Given the description of an element on the screen output the (x, y) to click on. 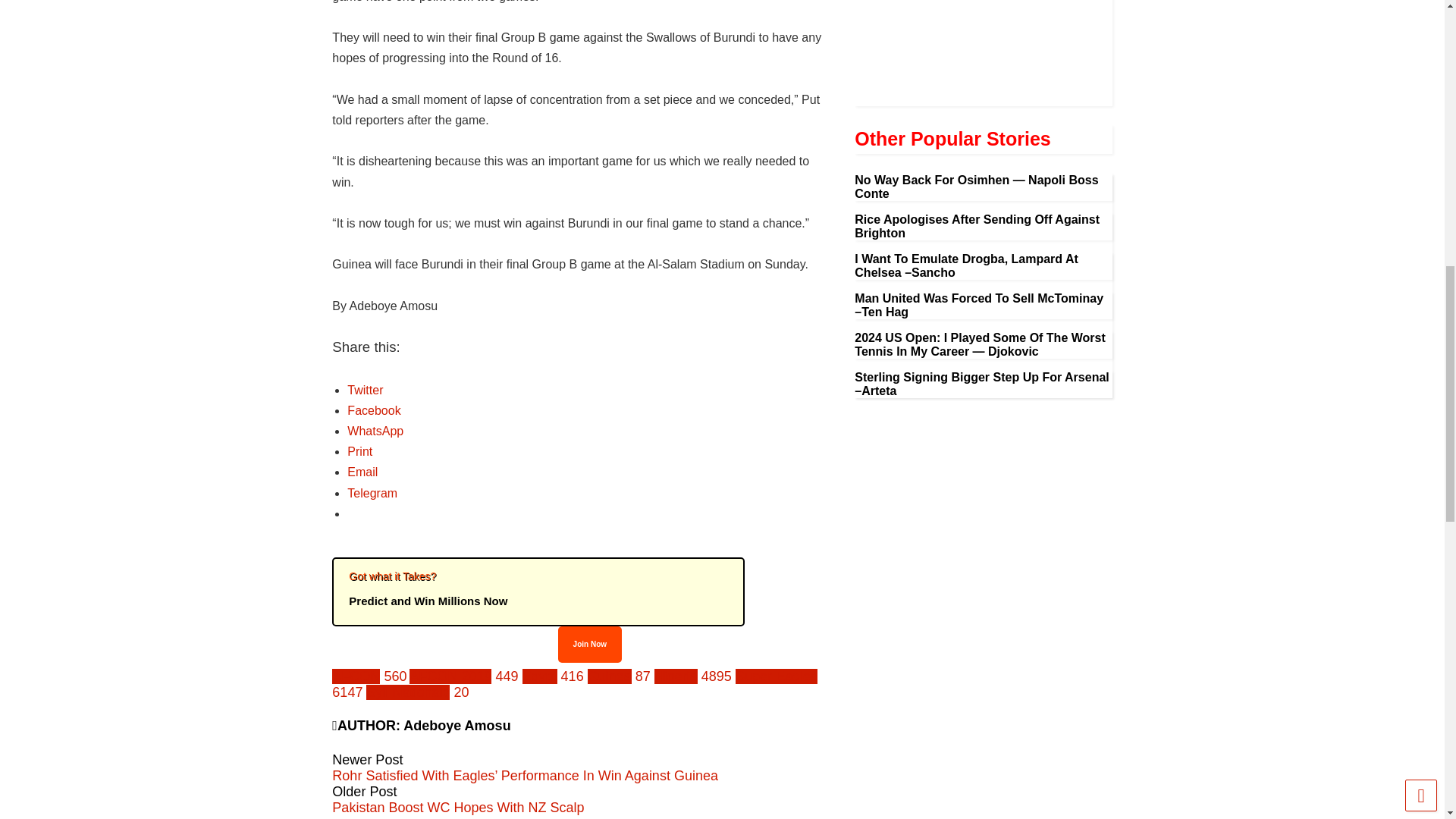
Click to share on Twitter (364, 390)
Click to share on WhatsApp (375, 431)
Click to print (359, 451)
Click to share on Telegram (372, 492)
Click to email a link to a friend (362, 472)
Click to share on Facebook (373, 410)
